Given the description of an element on the screen output the (x, y) to click on. 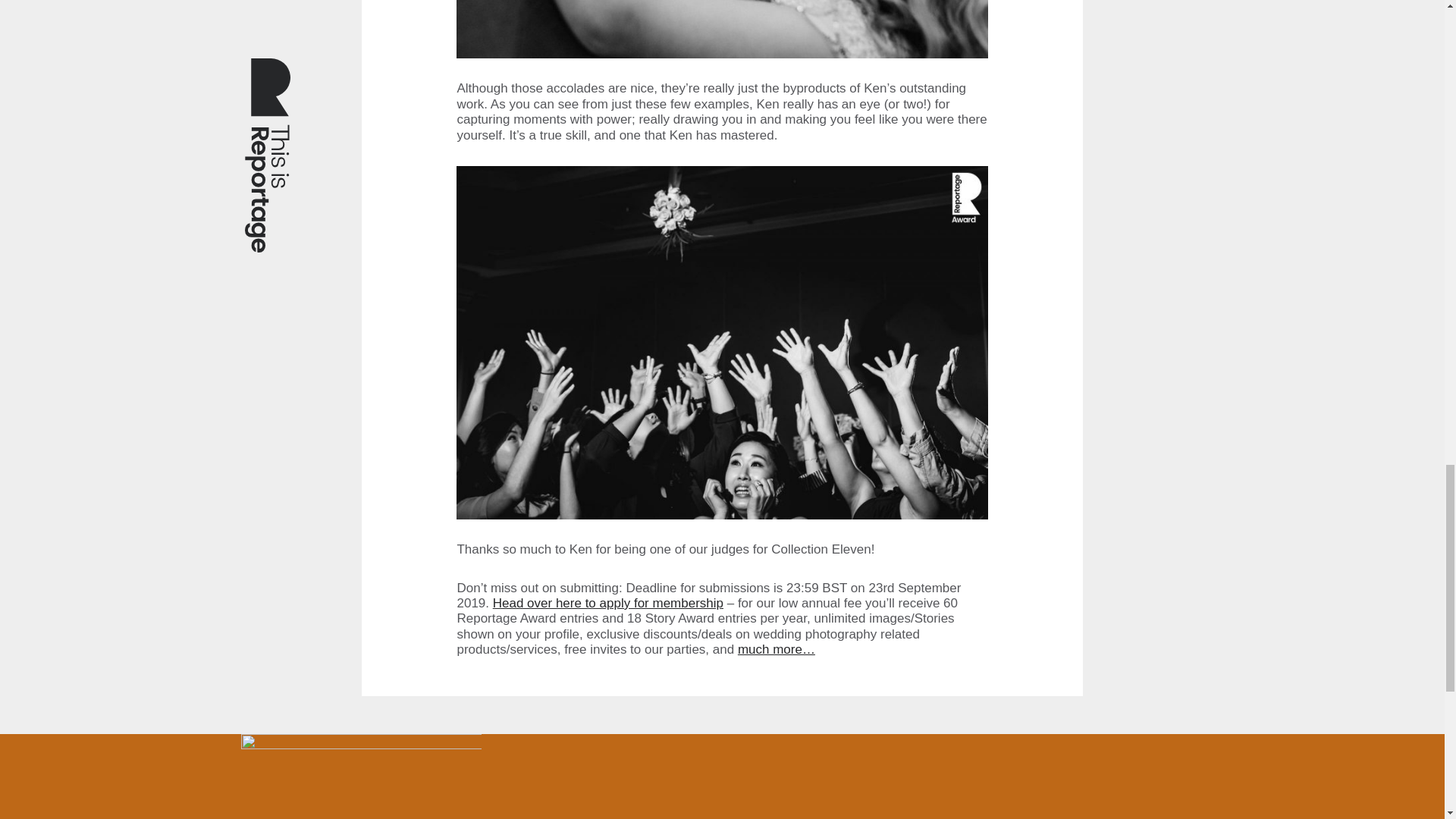
Head over here to apply for membership (608, 603)
